Given the description of an element on the screen output the (x, y) to click on. 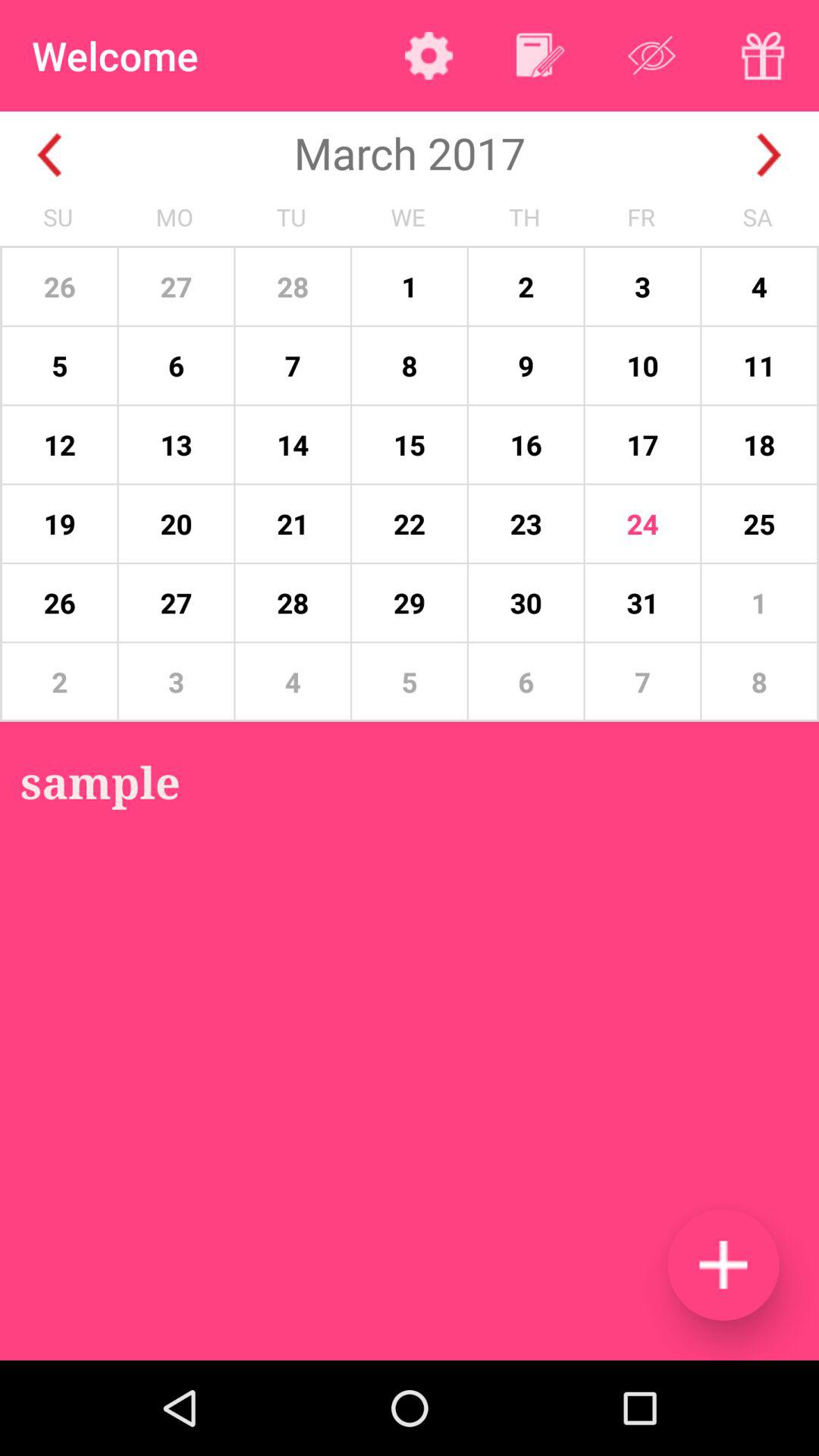
settings (428, 55)
